Given the description of an element on the screen output the (x, y) to click on. 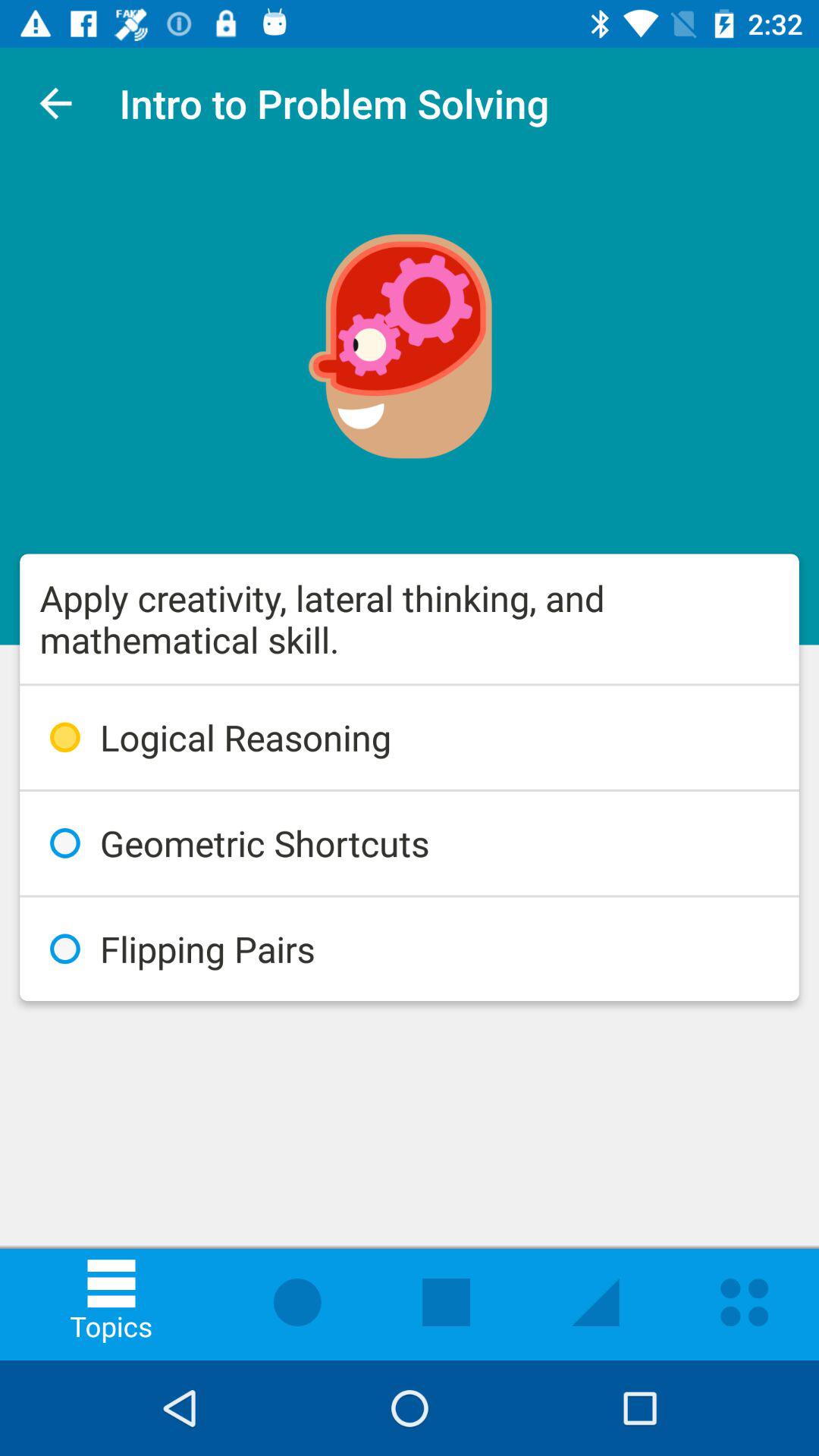
launch icon to the left of intro to problem item (55, 103)
